Given the description of an element on the screen output the (x, y) to click on. 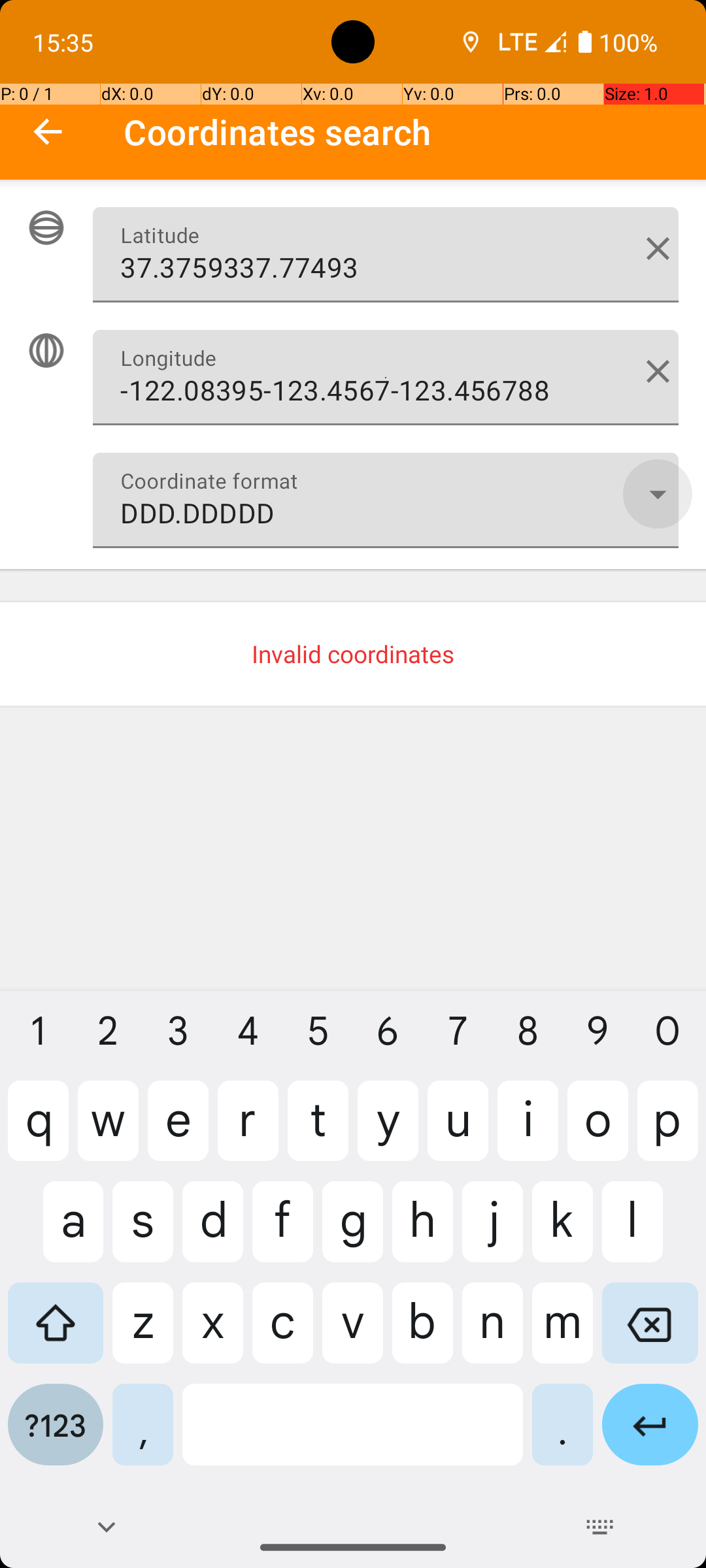
Coordinates search Element type: android.widget.TextView (414, 131)
37.3759337.77493 Element type: android.widget.EditText (385, 254)
-122.08395-123.4567-123.456788 Element type: android.widget.EditText (385, 377)
DDD.DDDDD Element type: android.widget.EditText (385, 500)
Coordinate format Element type: android.widget.ImageButton (657, 493)
Invalid coordinates Element type: android.widget.TextView (352, 653)
